Given the description of an element on the screen output the (x, y) to click on. 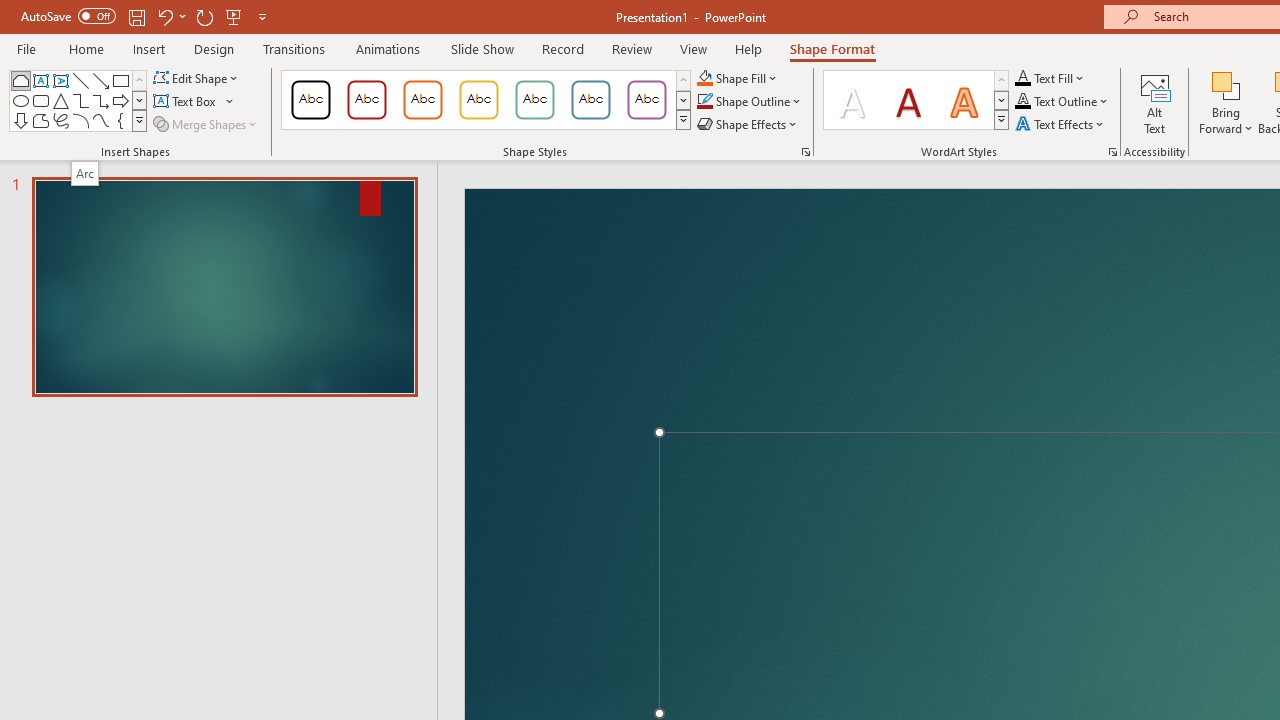
Colored Outline - Black, Dark 1 (310, 100)
Colored Outline - Gold, Accent 3 (478, 100)
AutomationID: ShapeStylesGallery (486, 99)
